Given the description of an element on the screen output the (x, y) to click on. 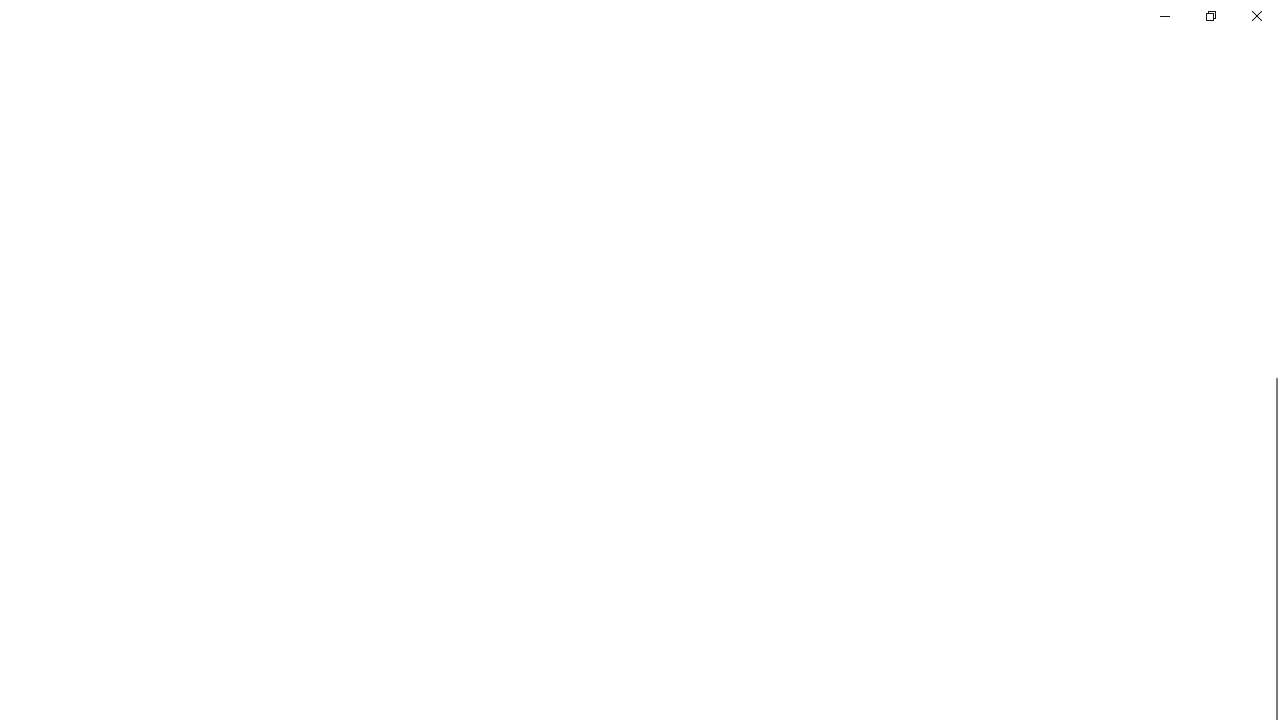
Vertical Large Decrease (1272, 245)
Vertical Small Decrease (1272, 103)
